Given the description of an element on the screen output the (x, y) to click on. 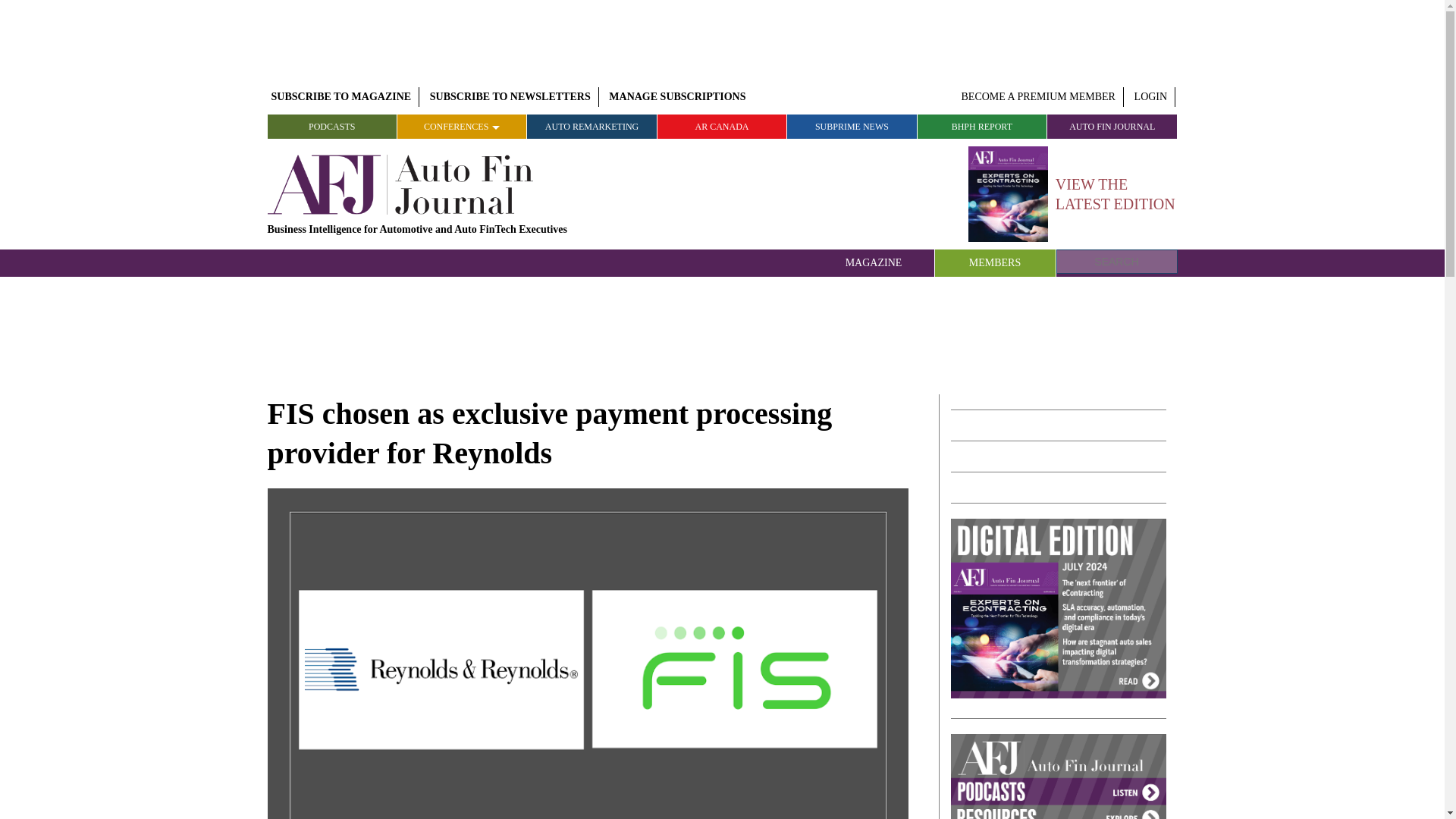
LOGIN (1151, 96)
BHPH REPORT (981, 126)
SUBSCRIBE TO MAGAZINE (340, 96)
AUTO FIN JOURNAL (1111, 126)
CONFERENCES (462, 126)
MEMBERS (994, 262)
SUBPRIME NEWS (852, 126)
PODCASTS (331, 126)
MANAGE SUBSCRIPTIONS (677, 96)
VIEW THE LATEST EDITION (1072, 193)
AUTO REMARKETING (591, 126)
AR CANADA (722, 126)
MAGAZINE (873, 262)
SUBSCRIBE TO NEWSLETTERS (510, 96)
3rd party ad content (722, 333)
